Given the description of an element on the screen output the (x, y) to click on. 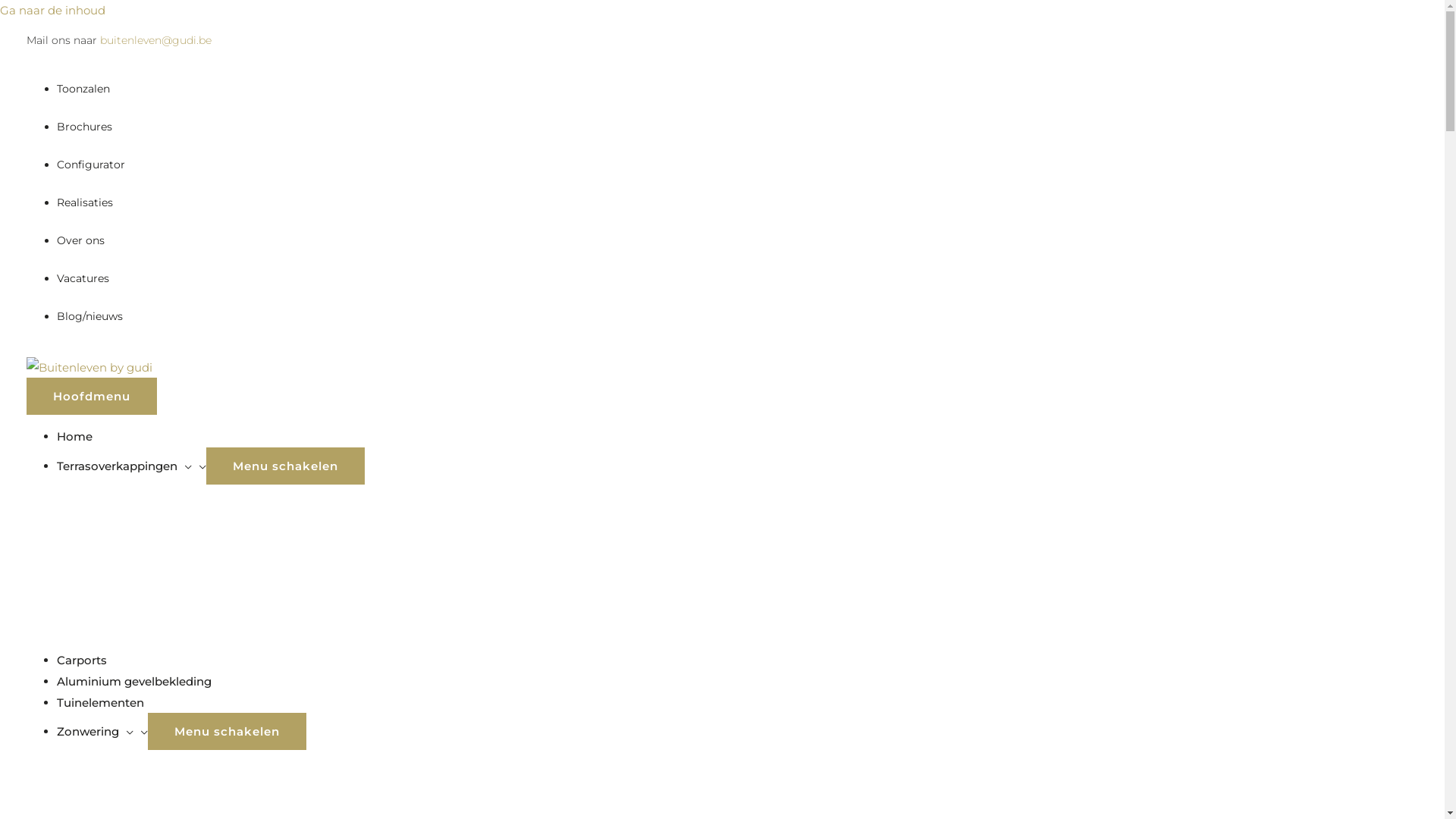
Toonzalen Element type: text (82, 88)
Zonwering Element type: text (101, 731)
Carports Element type: text (81, 659)
Home Element type: text (74, 436)
Menu schakelen Element type: text (285, 465)
Brochures Element type: text (84, 126)
Menu schakelen Element type: text (226, 730)
Ga naar de inhoud Element type: text (52, 10)
buitenleven@gudi.be Element type: text (155, 40)
Blog/nieuws Element type: text (89, 316)
Aluminium gevelbekleding Element type: text (133, 681)
Terrasoverkappingen Element type: text (131, 465)
Over ons Element type: text (80, 240)
Tuinelementen Element type: text (100, 702)
Configurator Element type: text (90, 164)
Vacatures Element type: text (82, 278)
Realisaties Element type: text (84, 202)
Hoofdmenu Element type: text (91, 395)
